Given the description of an element on the screen output the (x, y) to click on. 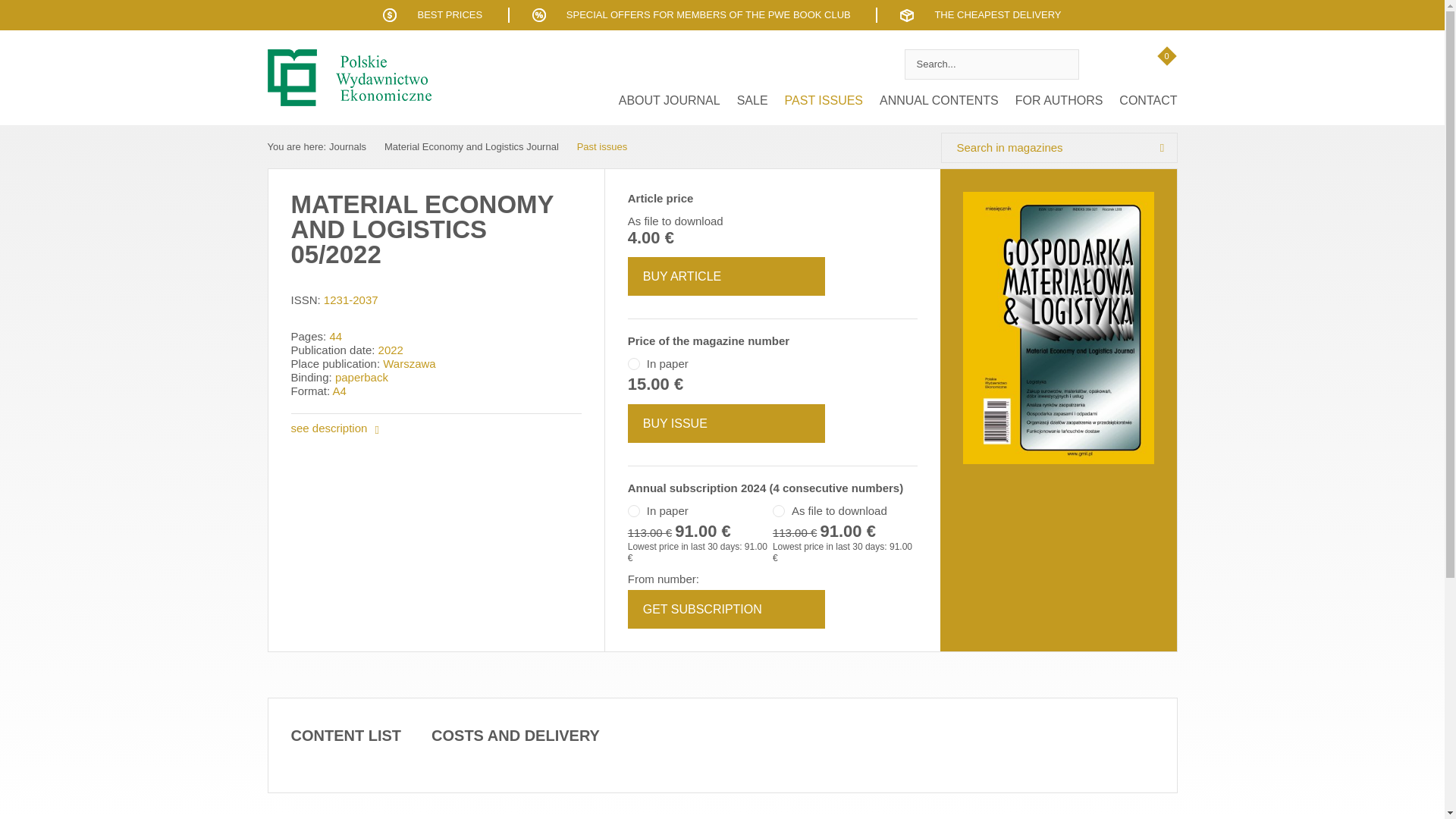
Past issues (601, 146)
Szukaj (1063, 64)
CONTACT (1147, 100)
SALE (752, 100)
ANNUAL CONTENTS (938, 100)
Material Economy and Logistics Journal (471, 146)
FOR AUTHORS (1059, 100)
GET SUBSCRIPTION (726, 608)
ABOUT JOURNAL (669, 100)
PAST ISSUES (823, 100)
BUY ISSUE (726, 423)
CONTENT LIST (346, 735)
see description (334, 427)
Szukaj (1161, 147)
BUY ARTICLE (726, 276)
